Given the description of an element on the screen output the (x, y) to click on. 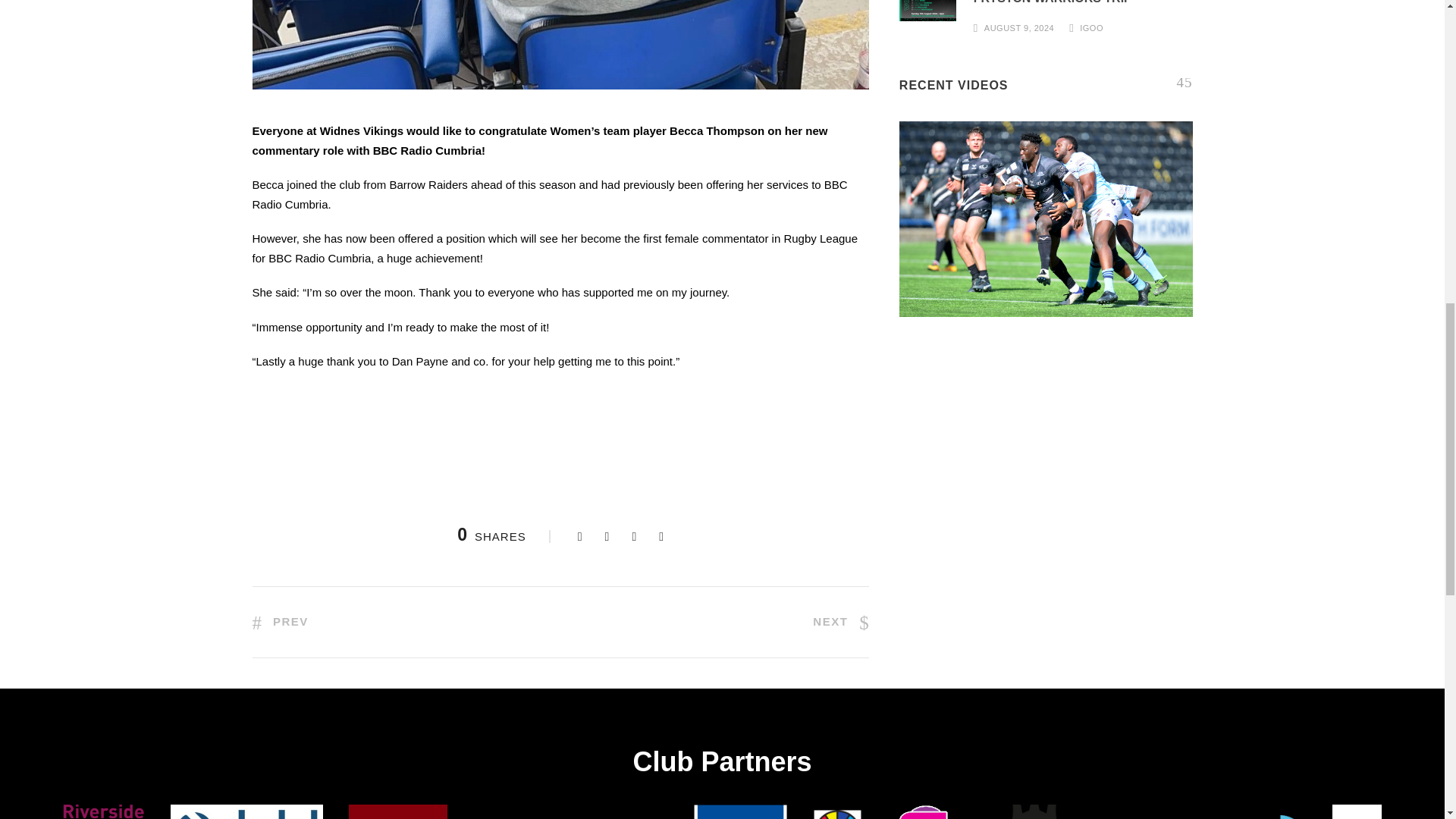
Widnes Vikings v Featherstone Rovers (1045, 218)
Womens SQUAD.psd (927, 10)
Posts by igoo (1091, 27)
